Given the description of an element on the screen output the (x, y) to click on. 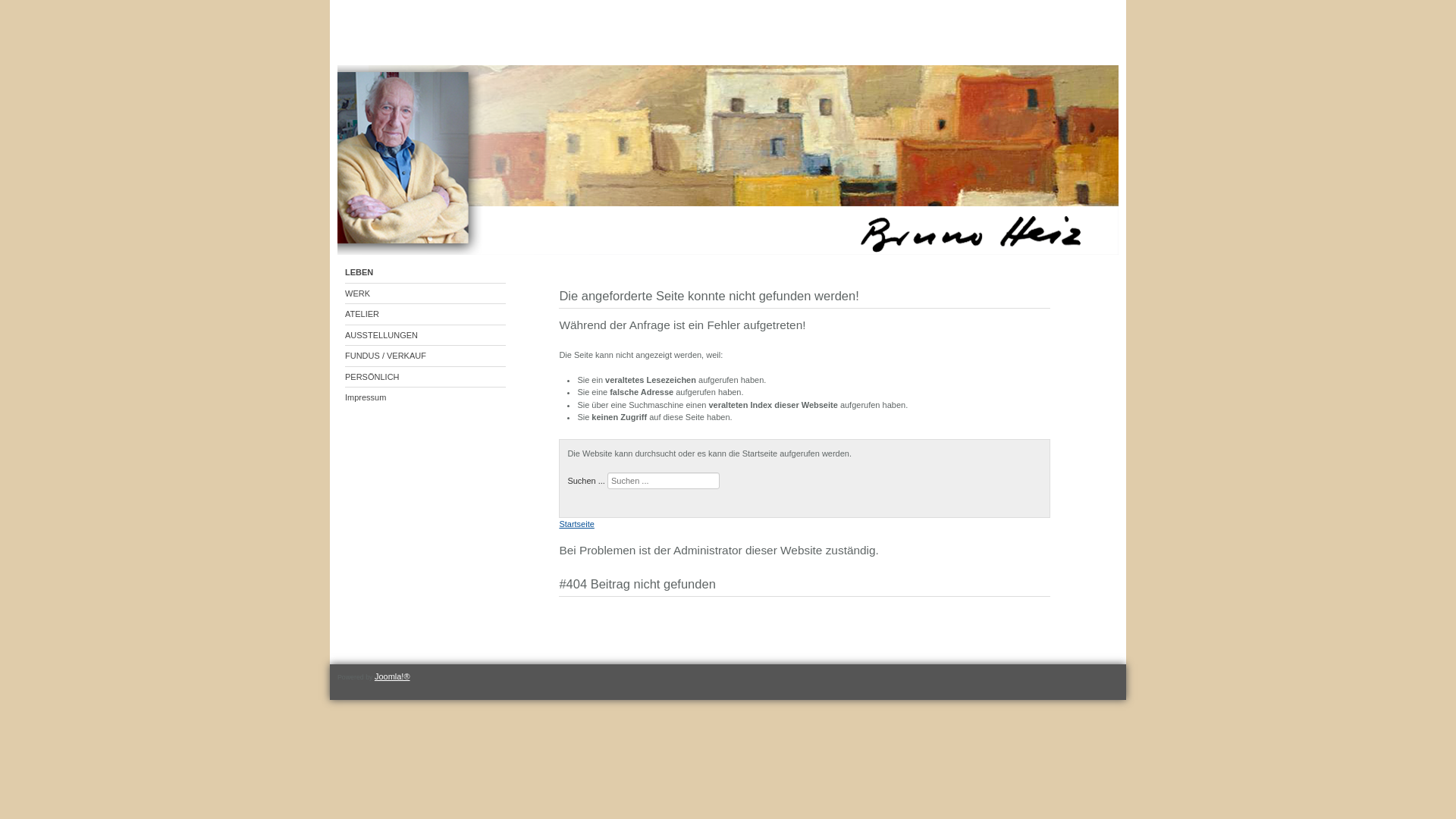
ATELIER Element type: text (425, 314)
WERK Element type: text (425, 293)
LEBEN Element type: text (425, 272)
Impressum Element type: text (425, 397)
AUSSTELLUNGEN Element type: text (425, 334)
FUNDUS / VERKAUF Element type: text (425, 356)
Startseite Element type: text (575, 523)
